Given the description of an element on the screen output the (x, y) to click on. 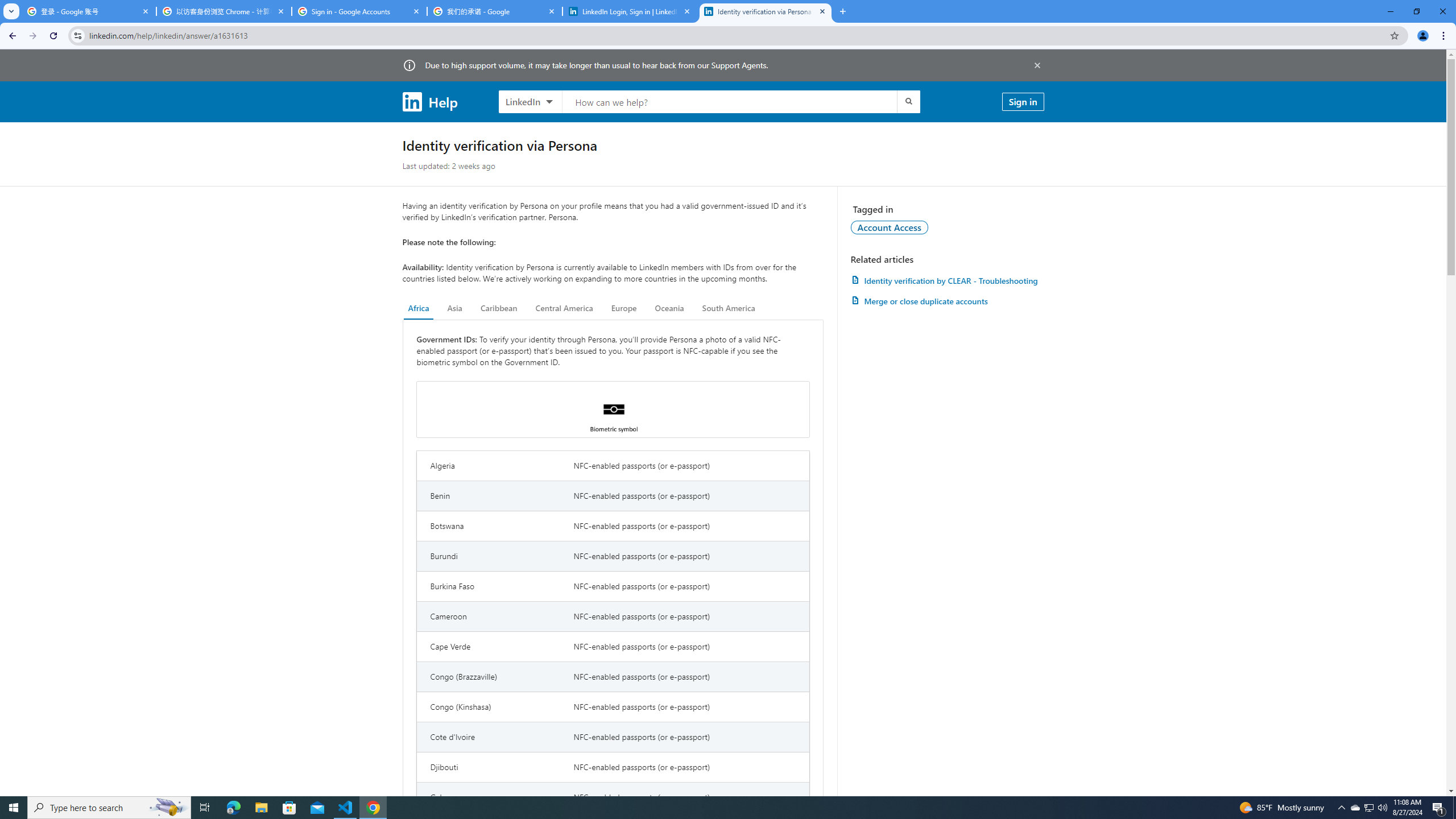
LinkedIn Login, Sign in | LinkedIn (630, 11)
Oceania (668, 308)
Identity verification by CLEAR - Troubleshooting (946, 280)
AutomationID: article-link-a1337200 (946, 300)
Merge or close duplicate accounts (946, 300)
Identity verification via Persona | LinkedIn Help (765, 11)
Caribbean (499, 308)
South America (728, 308)
Central America (563, 308)
